Given the description of an element on the screen output the (x, y) to click on. 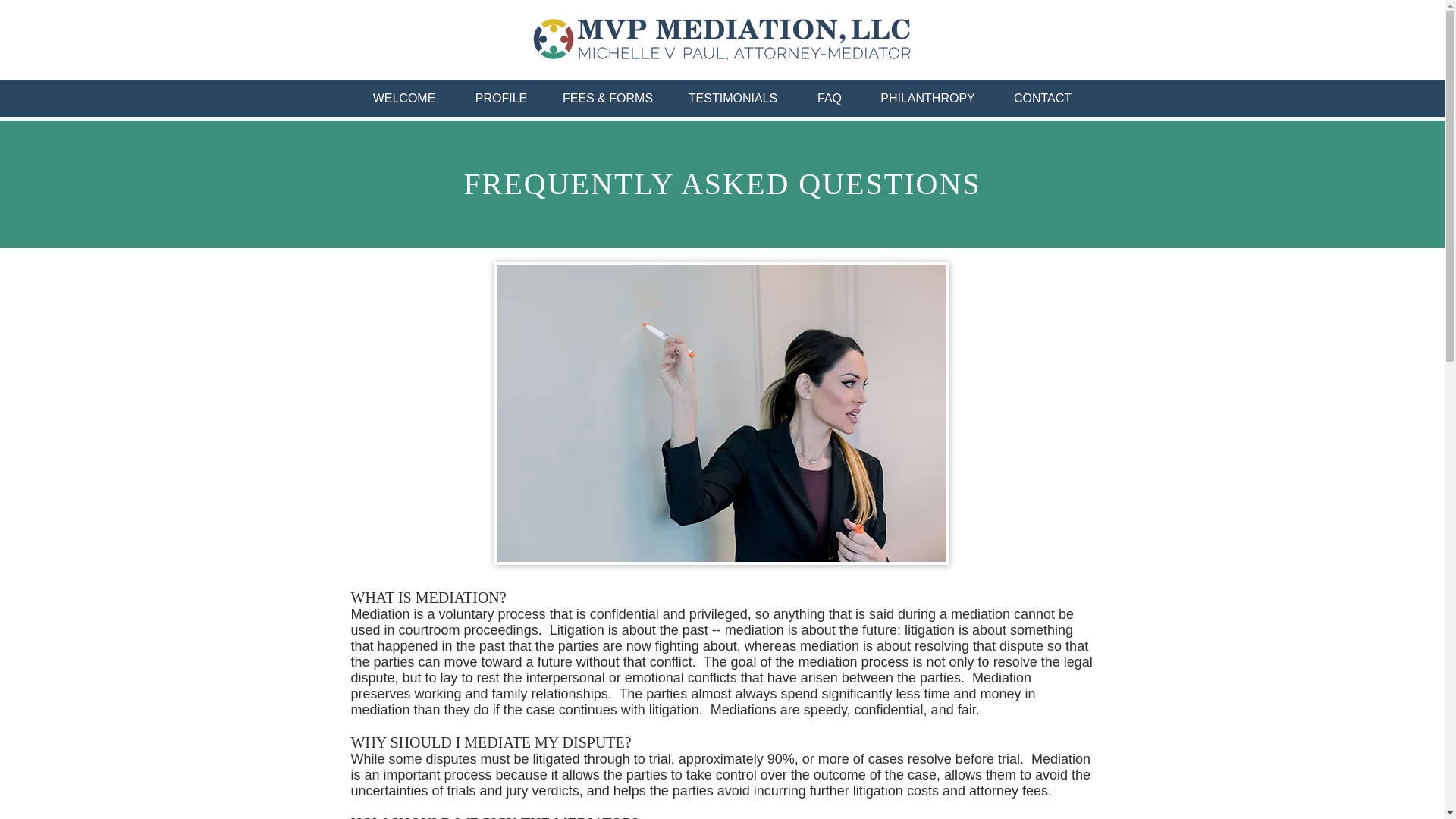
PHILANTHROPY (927, 97)
TESTIMONIALS (731, 97)
PROFILE (501, 97)
WELCOME (403, 97)
CONTACT (1042, 97)
FAQ (828, 97)
